Given the description of an element on the screen output the (x, y) to click on. 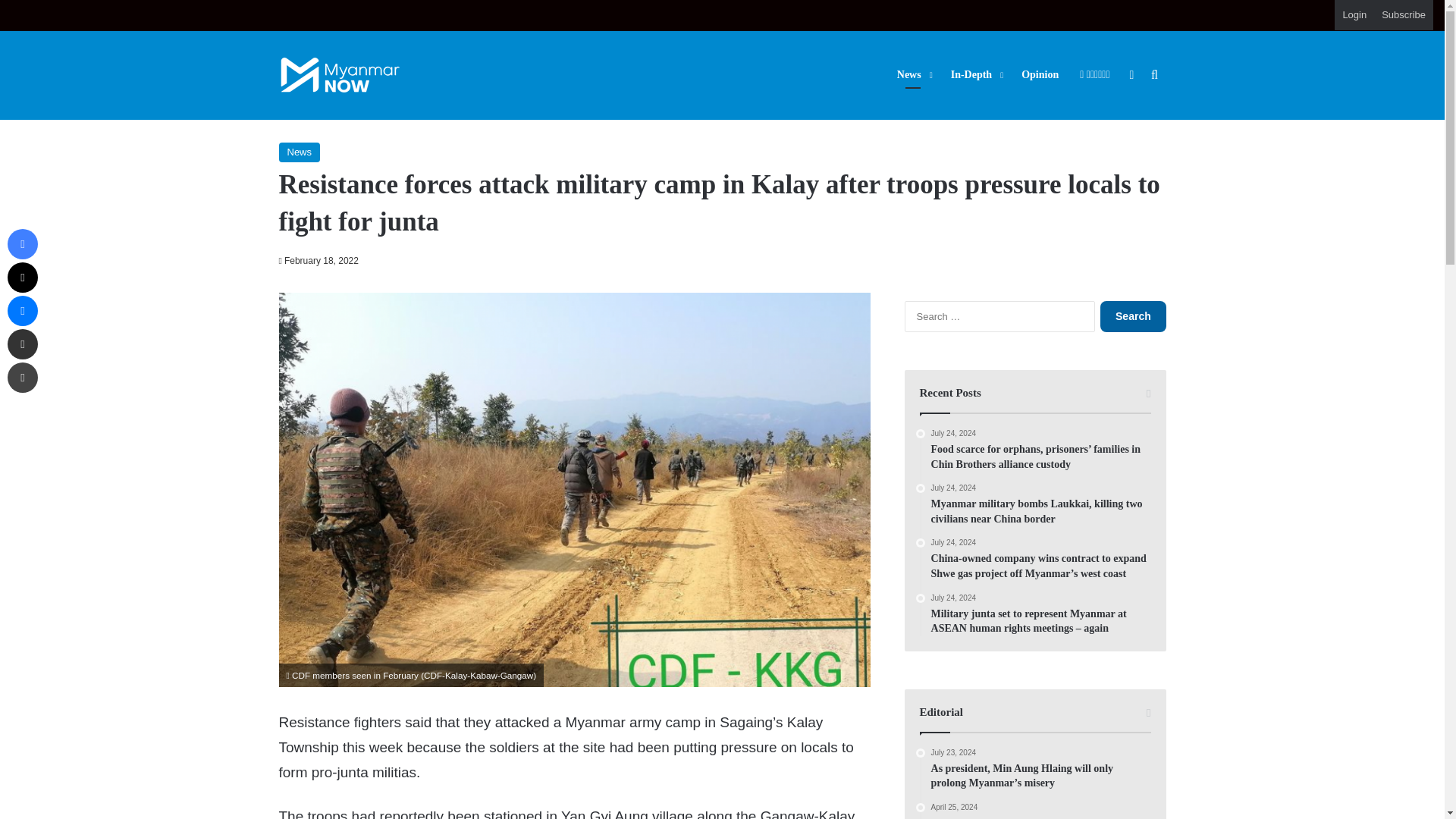
Search (1133, 316)
Myanmar Now (340, 75)
Search (1133, 316)
News (299, 152)
In-Depth (975, 74)
Share via Email (22, 344)
Messenger (22, 310)
Facebook (22, 244)
X (22, 277)
Login (1354, 15)
Subscribe (1403, 15)
Print (22, 377)
Search (1133, 316)
